Given the description of an element on the screen output the (x, y) to click on. 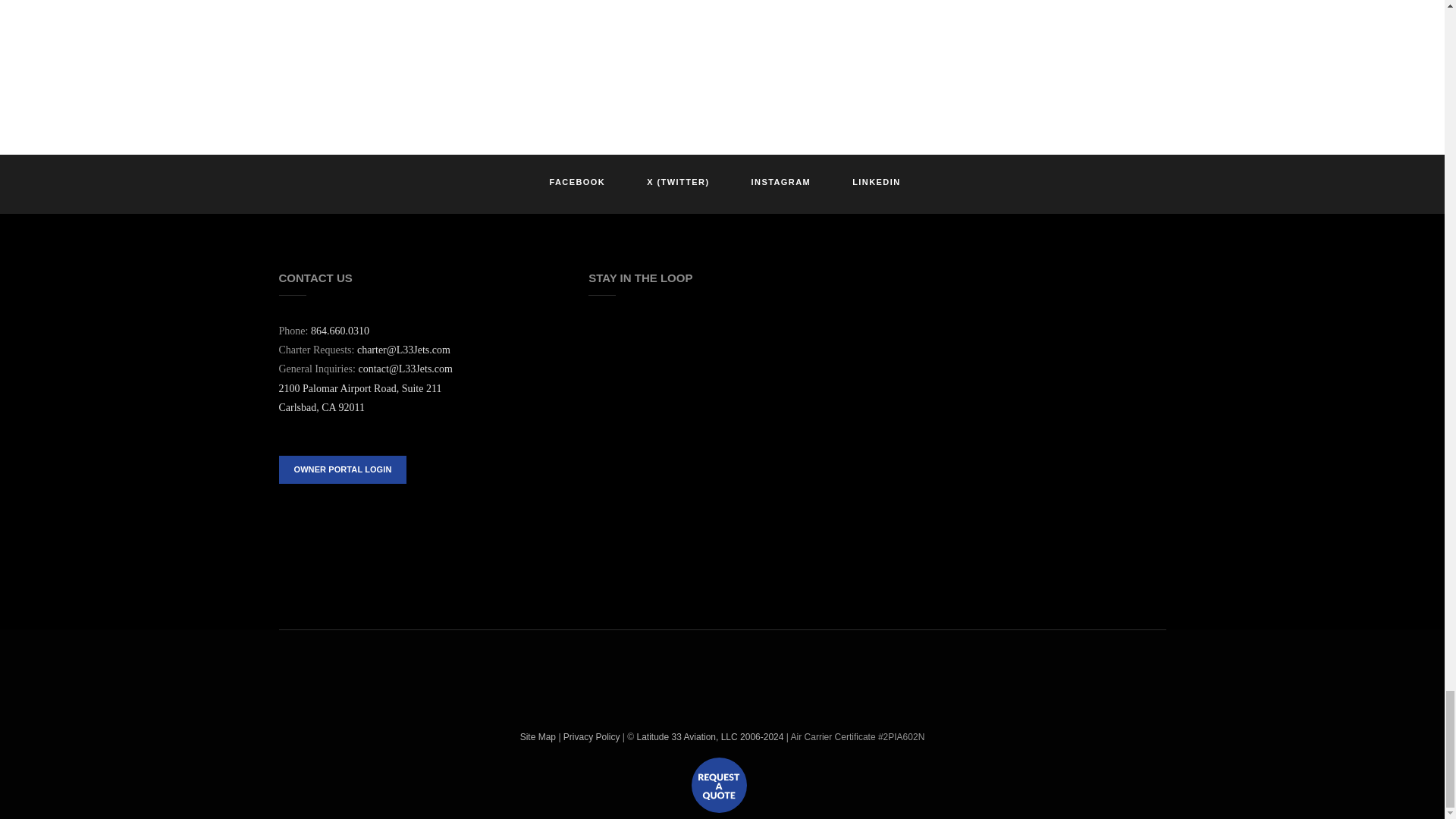
Form 1 (722, 425)
